Given the description of an element on the screen output the (x, y) to click on. 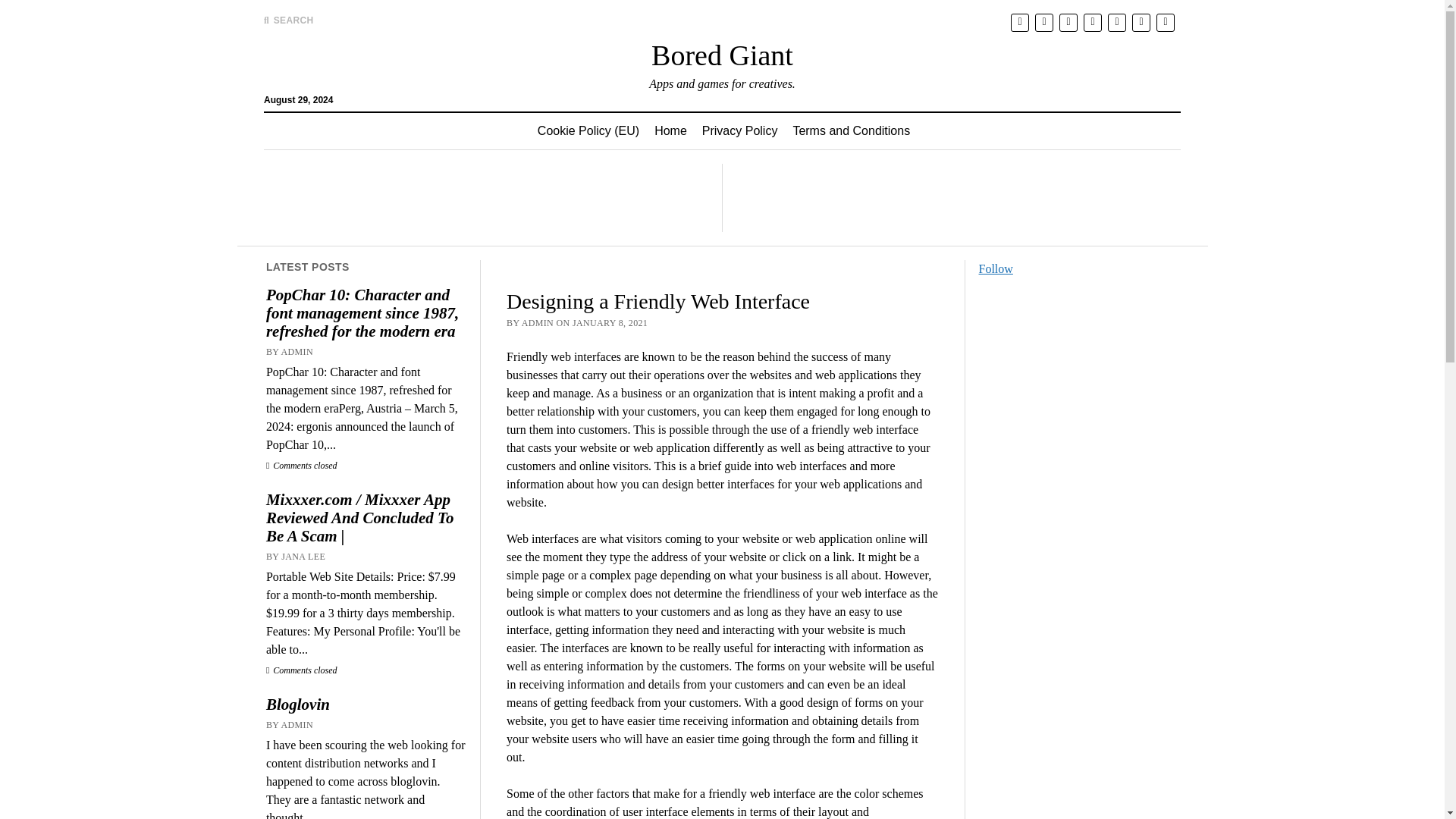
Terms and Conditions (850, 131)
Comments closed (301, 465)
Privacy Policy (740, 131)
Bloglovin (365, 704)
Comments closed (301, 670)
Home (670, 131)
Follow (995, 268)
SEARCH (288, 20)
Bored Giant (721, 55)
